Given the description of an element on the screen output the (x, y) to click on. 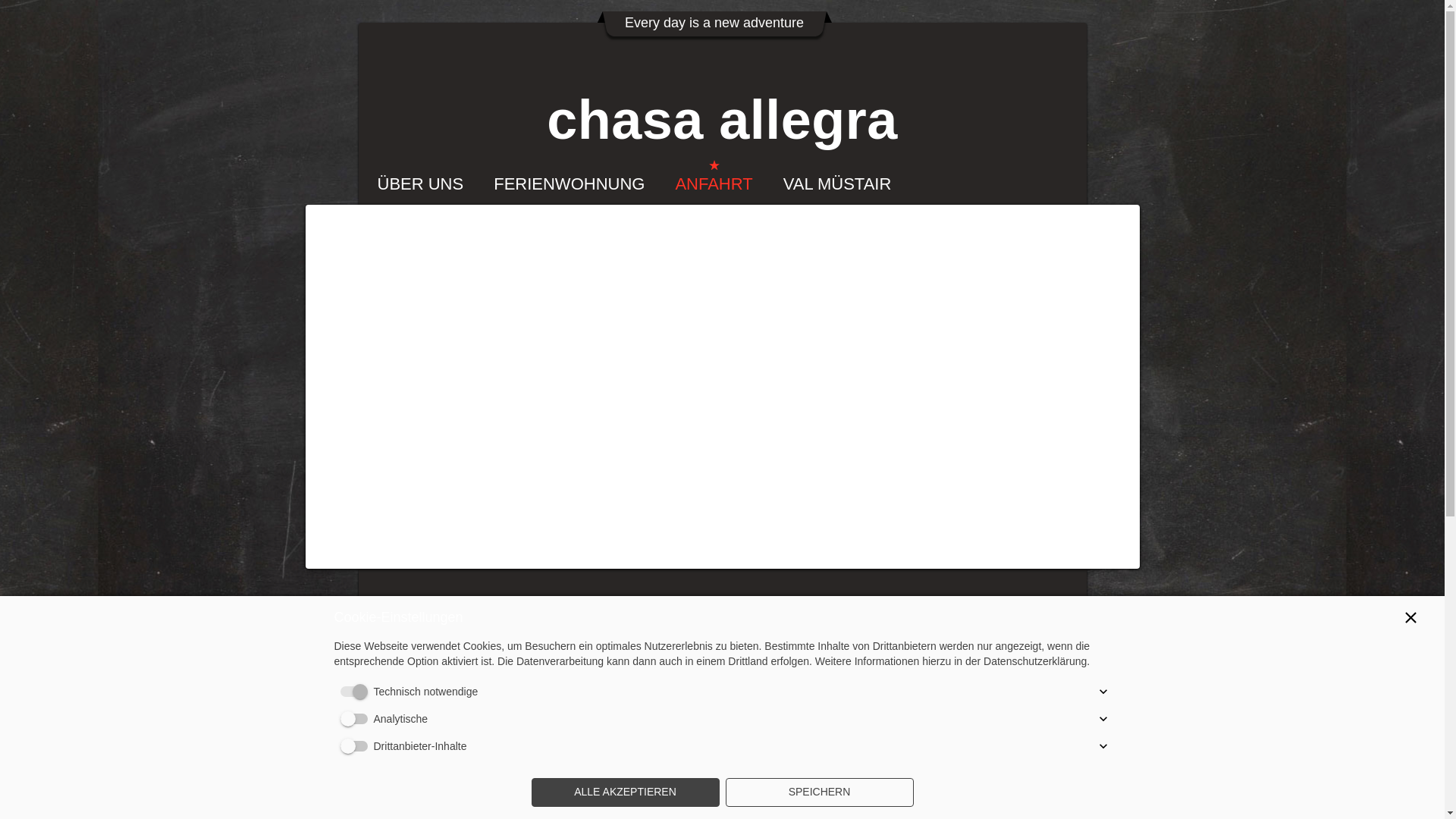
ANFAHRT Element type: text (713, 184)
FERIENWOHNUNG Element type: text (568, 184)
KONTAKT Element type: text (615, 241)
ANFRAGE/BUCHUNG Element type: text (461, 241)
ALLE AKZEPTIEREN Element type: text (624, 792)
SPEICHERN Element type: text (818, 792)
Cookie-Einstellungen Element type: text (847, 727)
